Given the description of an element on the screen output the (x, y) to click on. 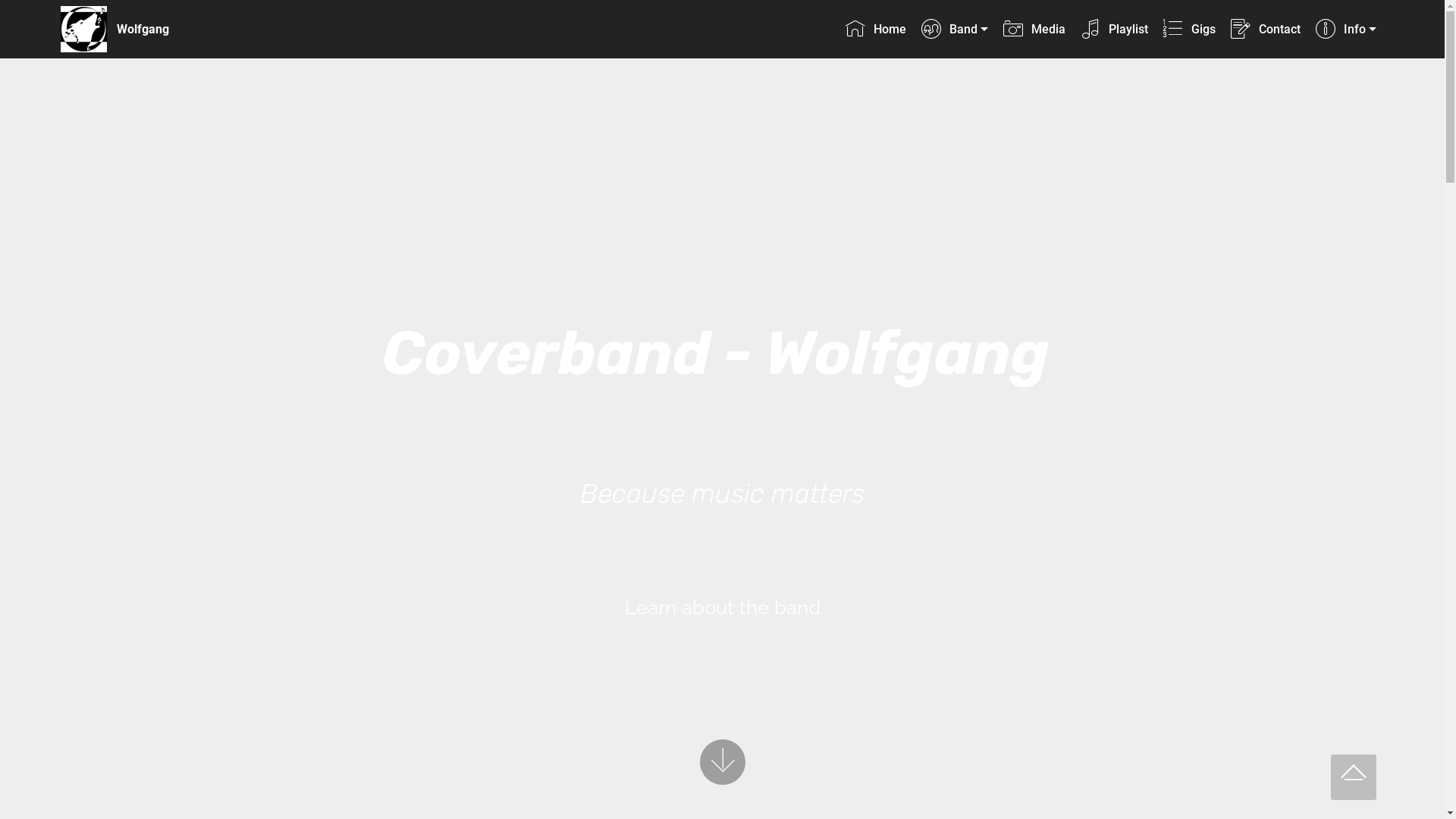
Go to homepage Element type: hover (83, 29)
Contact Element type: text (1264, 28)
Band Element type: text (954, 28)
Wolfgang Element type: text (154, 28)
Gigs Element type: text (1188, 28)
Info Element type: text (1345, 28)
Playlist Element type: text (1113, 28)
Home Element type: text (875, 28)
Media Element type: text (1033, 28)
